Given the description of an element on the screen output the (x, y) to click on. 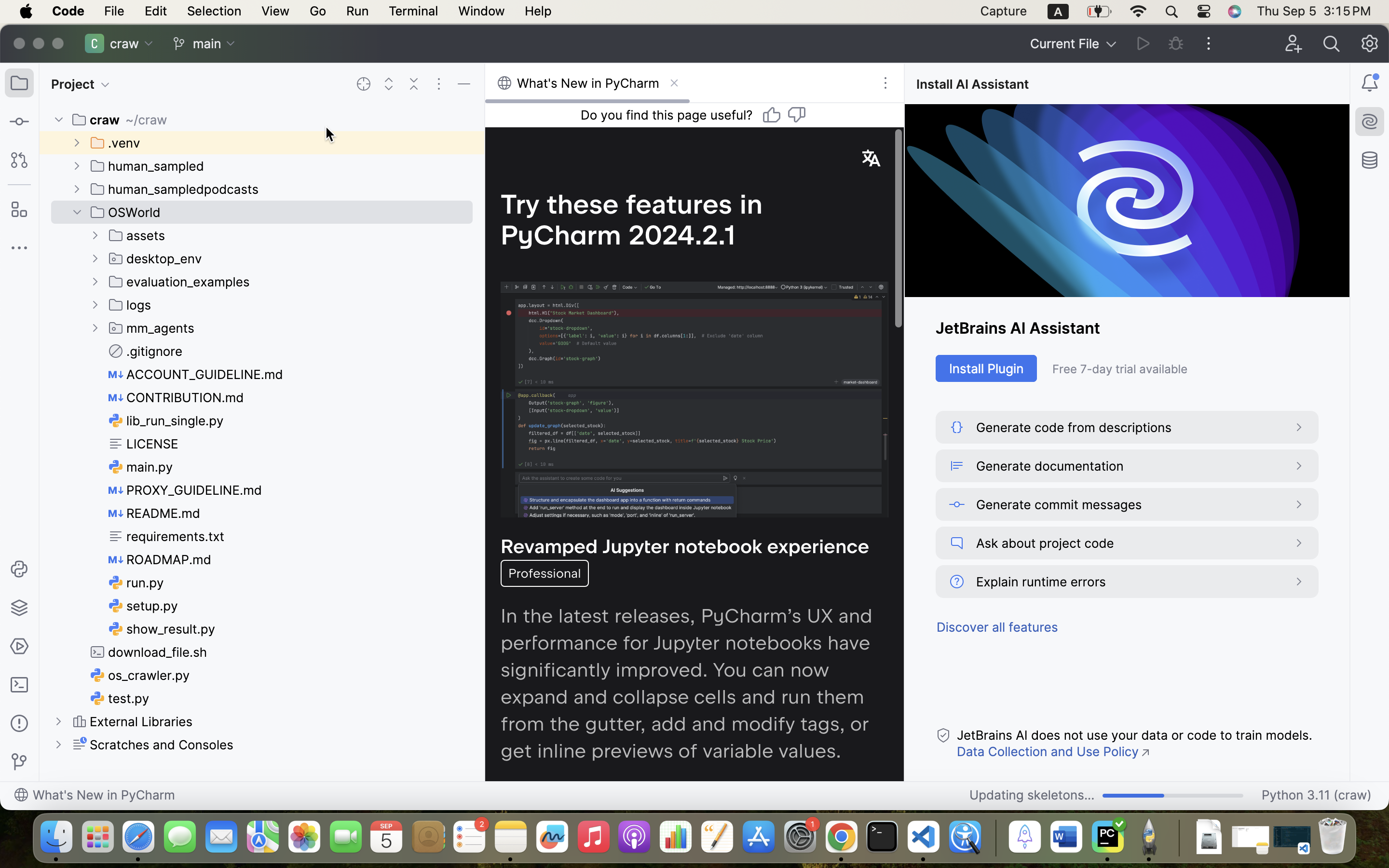
.venv Element type: AXStaticText (115, 142)
setup.py Element type: AXStaticText (143, 605)
test.py Element type: AXStaticText (119, 697)
0 Element type: AXRadioButton (587, 83)
PROXY_GUIDELINE.md Element type: AXStaticText (185, 489)
